Given the description of an element on the screen output the (x, y) to click on. 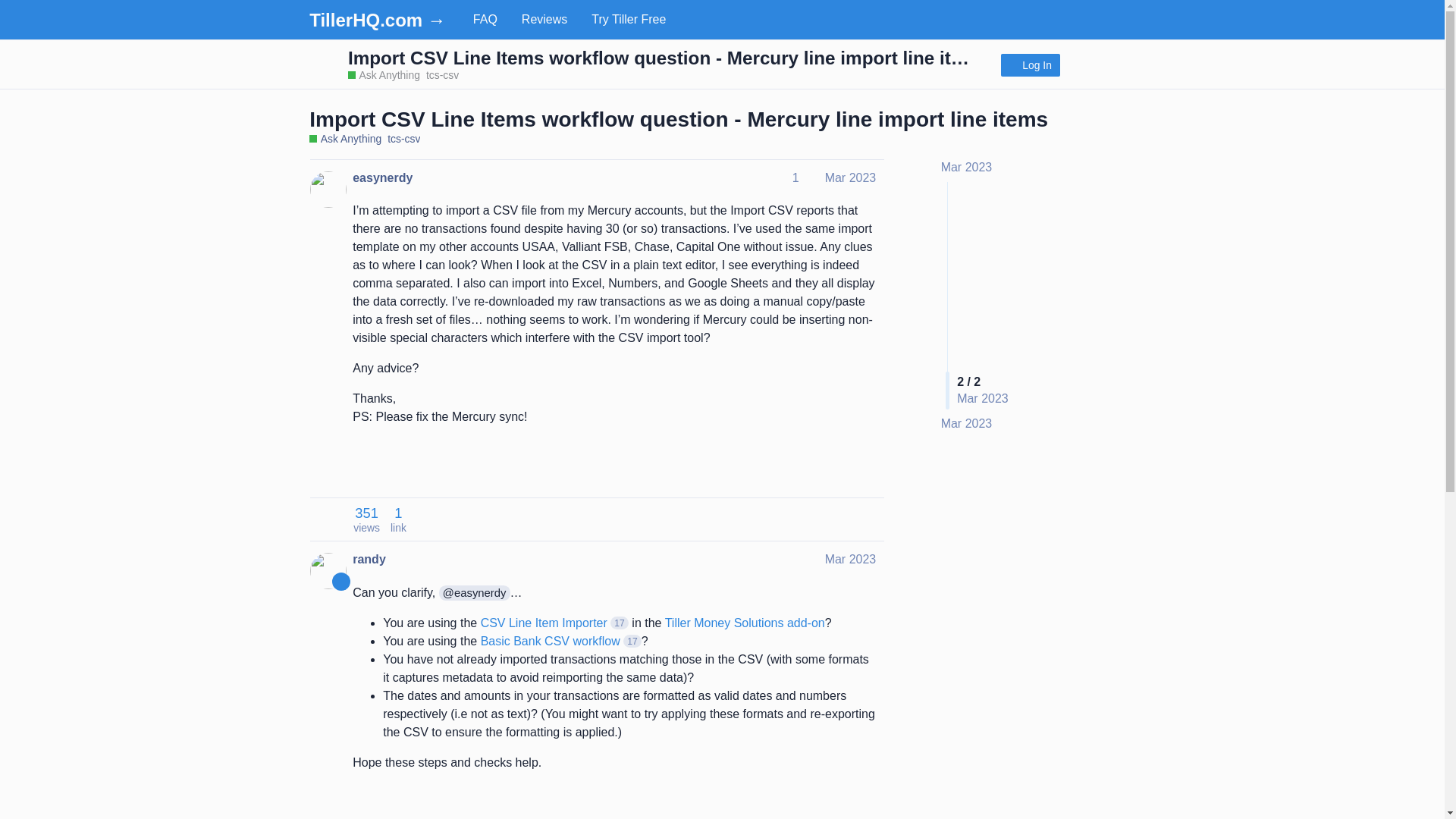
Log In (1030, 65)
Search (1082, 63)
tcs-csv (403, 138)
tcs-csv (442, 74)
Mar 2023 (966, 166)
Try Tiller Free (628, 19)
randy (368, 559)
like this post (835, 469)
Post date (850, 558)
FAQ (485, 19)
